Given the description of an element on the screen output the (x, y) to click on. 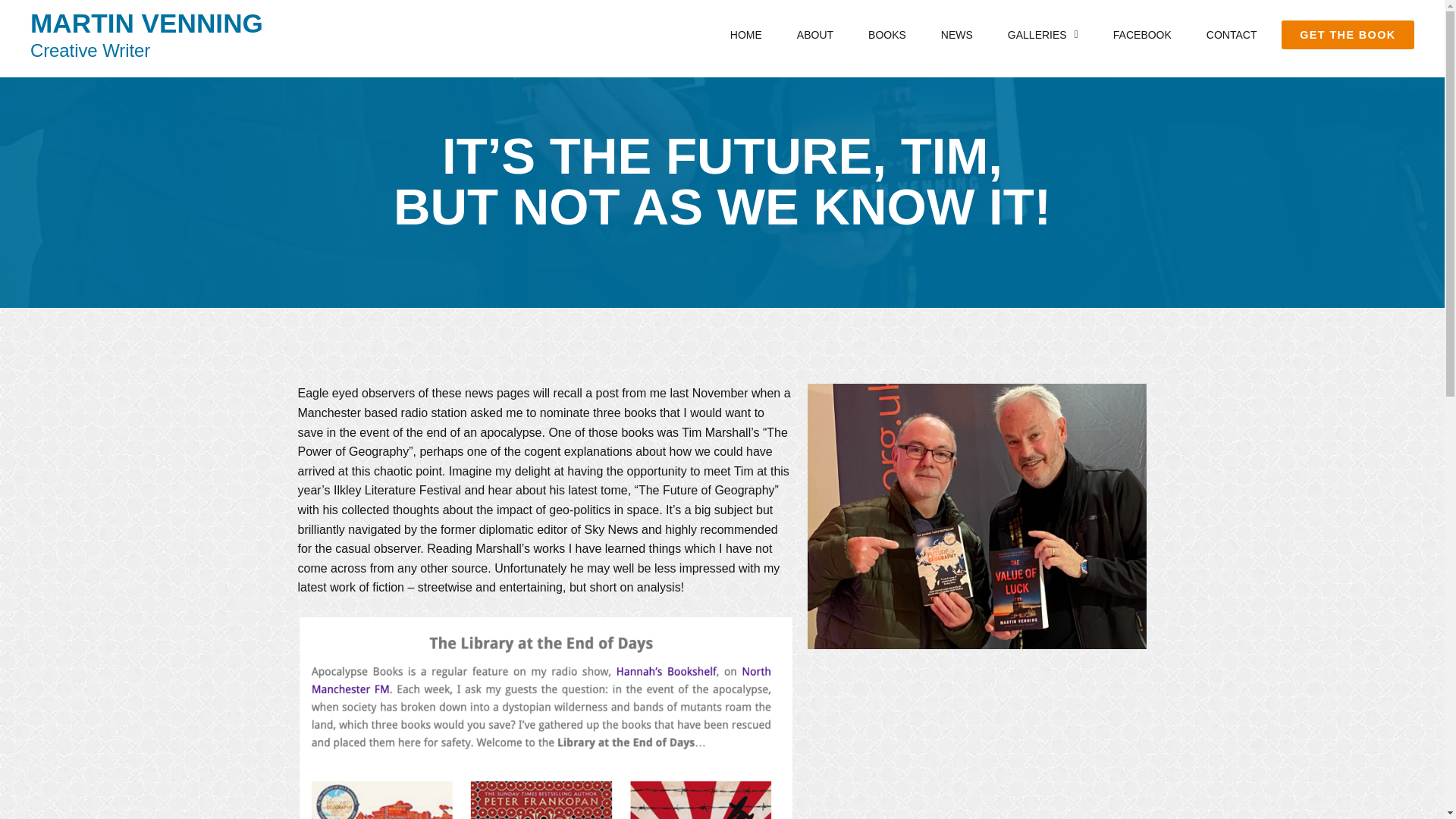
MARTIN VENNING (146, 22)
BOOKS (887, 34)
GALLERIES (1042, 34)
NEWS (957, 34)
GET THE BOOK (1347, 34)
ABOUT (814, 34)
HOME (745, 34)
CONTACT (1231, 34)
FACEBOOK (1141, 34)
